Given the description of an element on the screen output the (x, y) to click on. 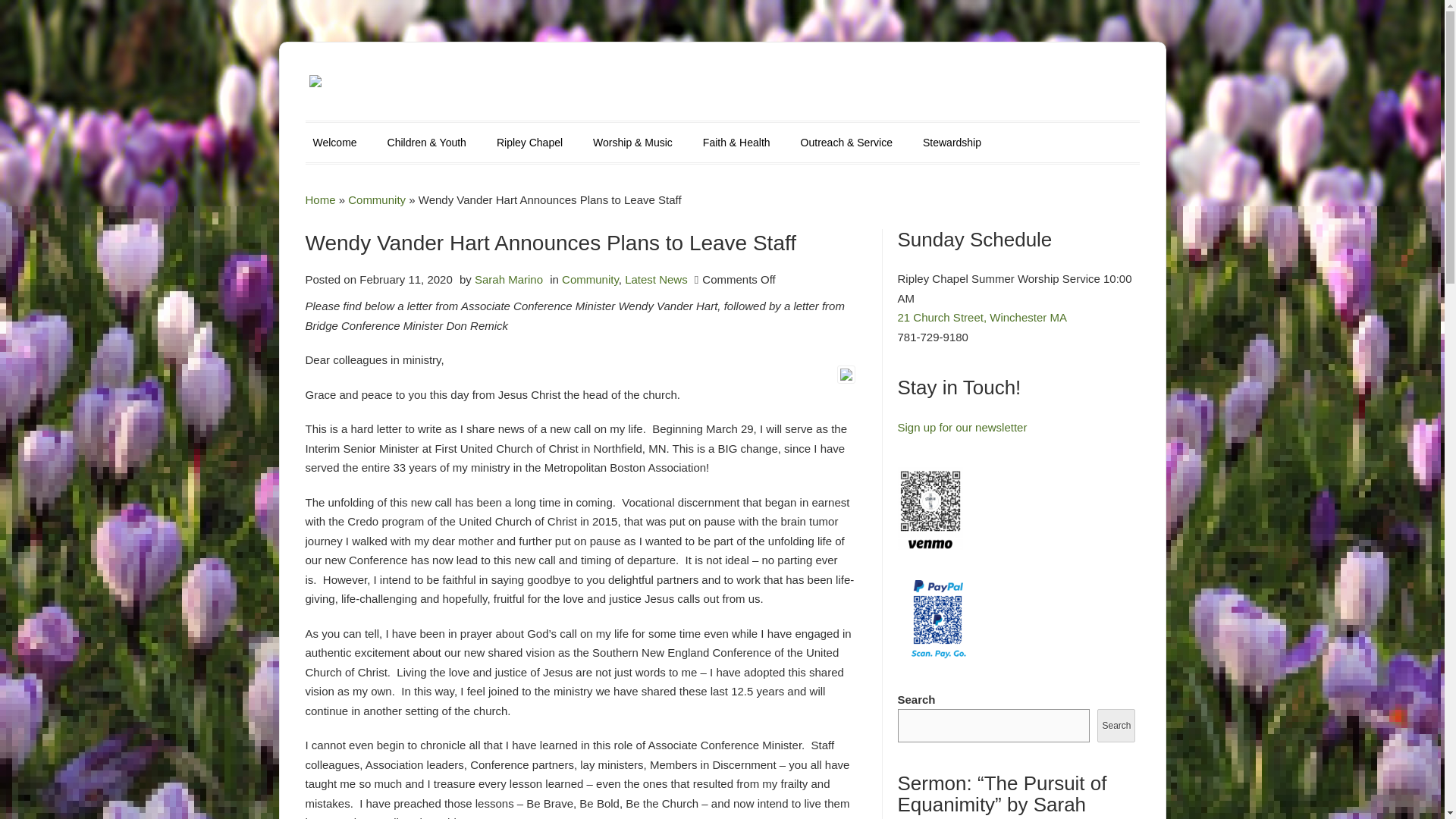
Posts by Sarah Marino (508, 278)
Ripley Chapel (529, 143)
Welcome (334, 143)
